Given the description of an element on the screen output the (x, y) to click on. 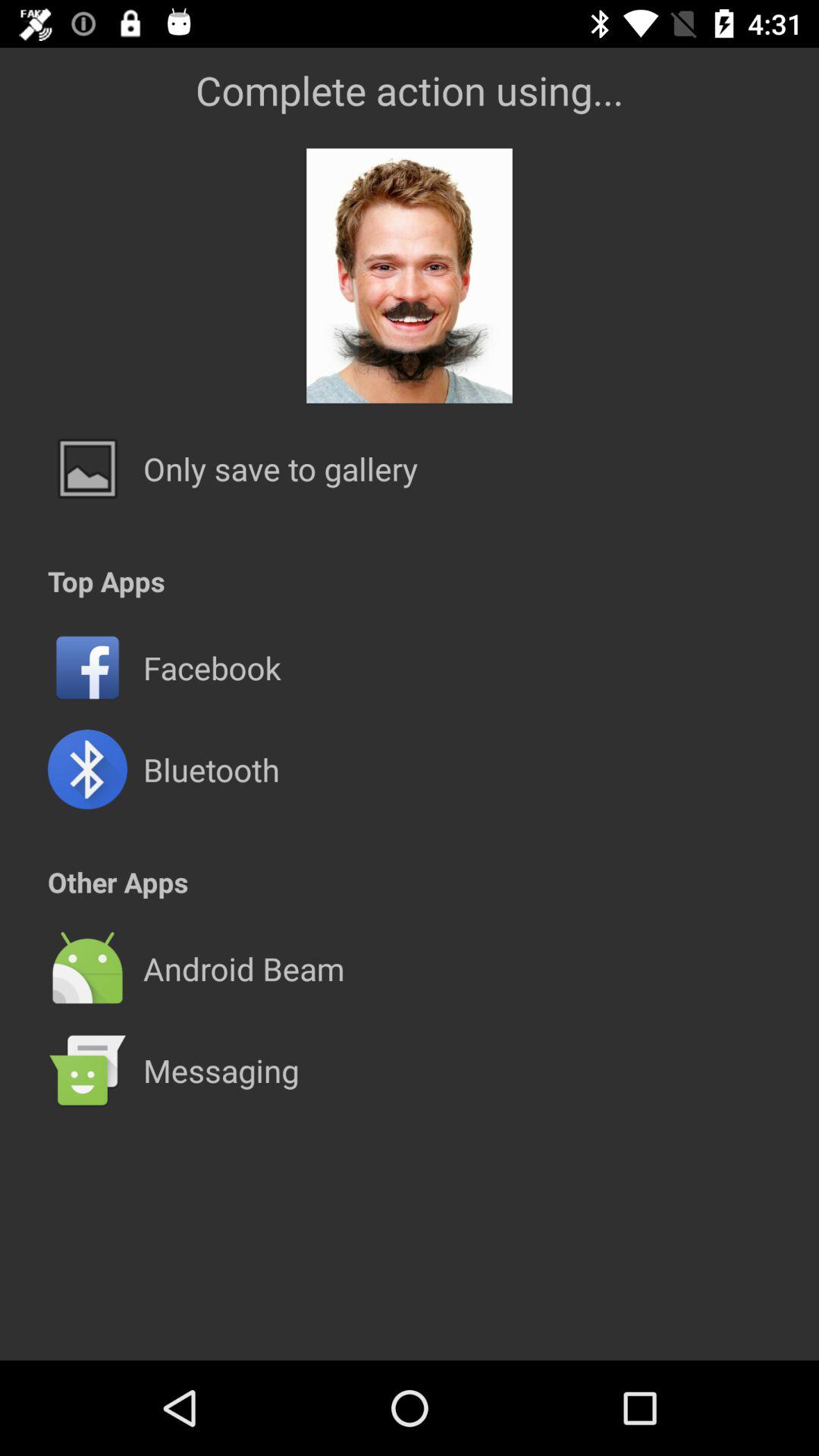
launch facebook icon (211, 667)
